Given the description of an element on the screen output the (x, y) to click on. 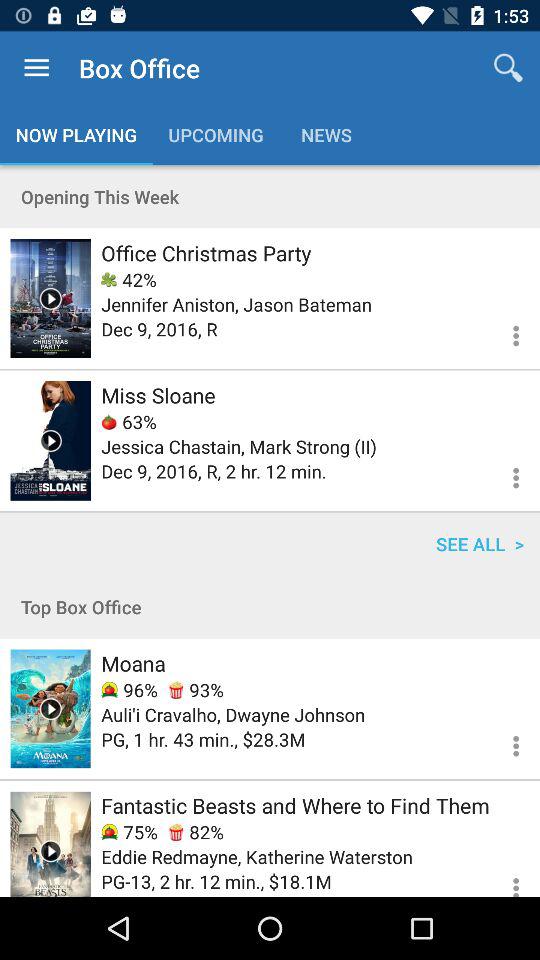
play movie (50, 708)
